Given the description of an element on the screen output the (x, y) to click on. 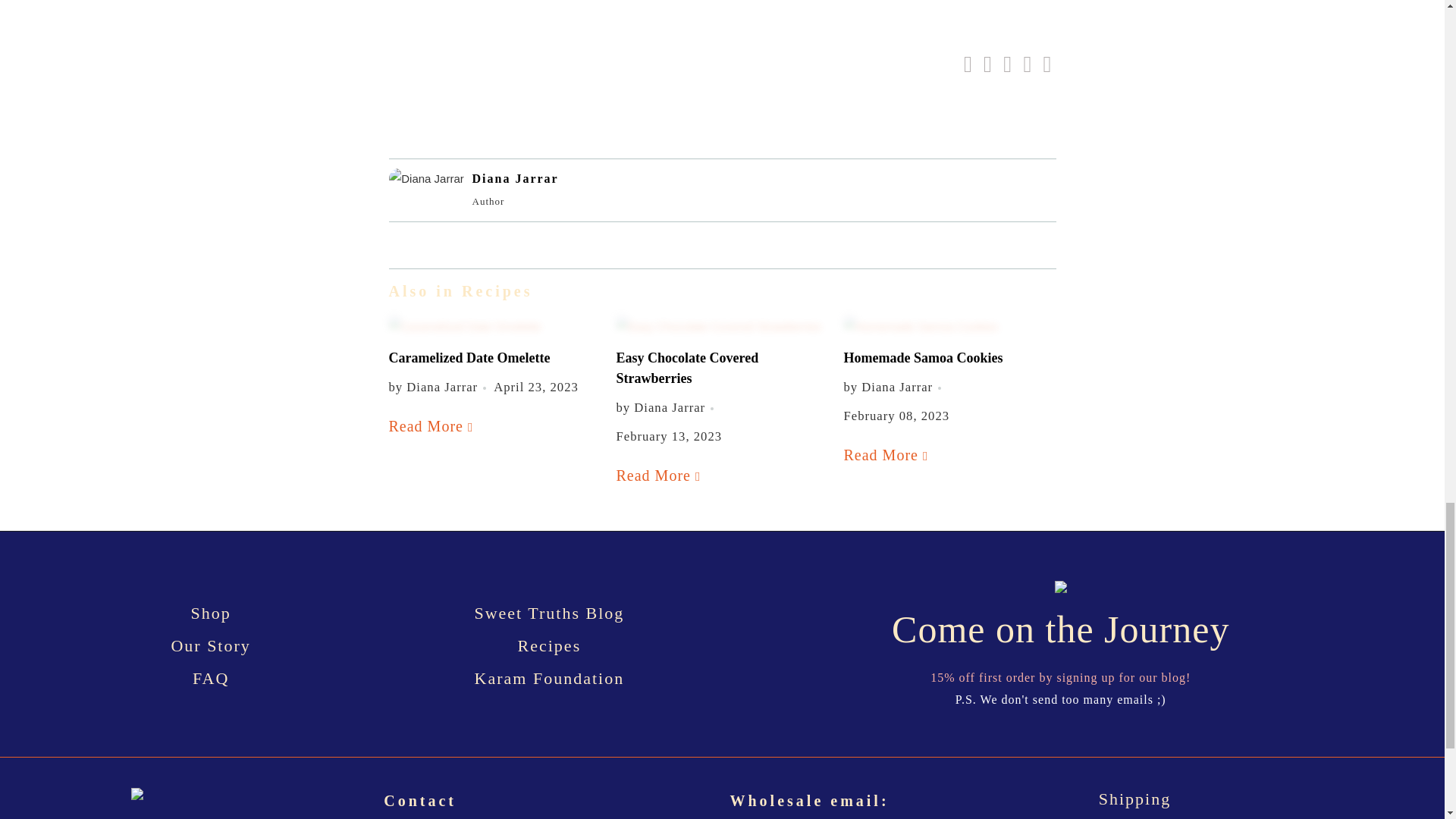
Homemade Samoa Cookies (923, 357)
Homemade Samoa Cookies (949, 326)
Easy Chocolate Covered Strawberries (721, 326)
Caramelized Date Omelette (469, 357)
Easy Chocolate Covered Strawberries (686, 367)
Caramelized Date Omelette (432, 425)
Caramelized Date Omelette (493, 326)
Homemade Samoa Cookies (886, 454)
Easy Chocolate Covered Strawberries (659, 475)
